Given the description of an element on the screen output the (x, y) to click on. 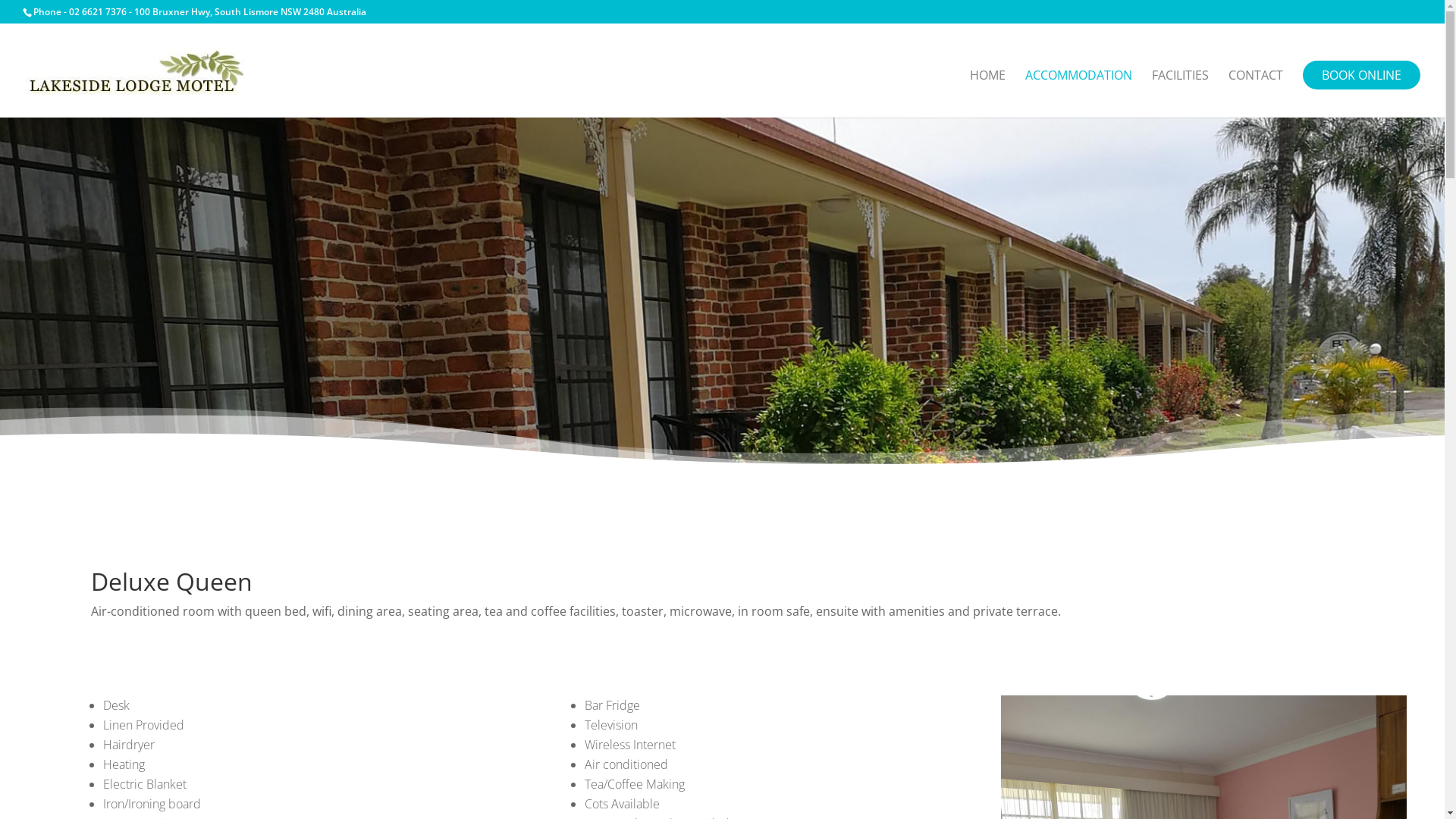
HOME Element type: text (987, 93)
02 6621 7376 Element type: text (97, 11)
CONTACT Element type: text (1255, 93)
FACILITIES Element type: text (1179, 93)
BOOK ONLINE Element type: text (1361, 74)
ACCOMMODATION Element type: text (1078, 93)
